Given the description of an element on the screen output the (x, y) to click on. 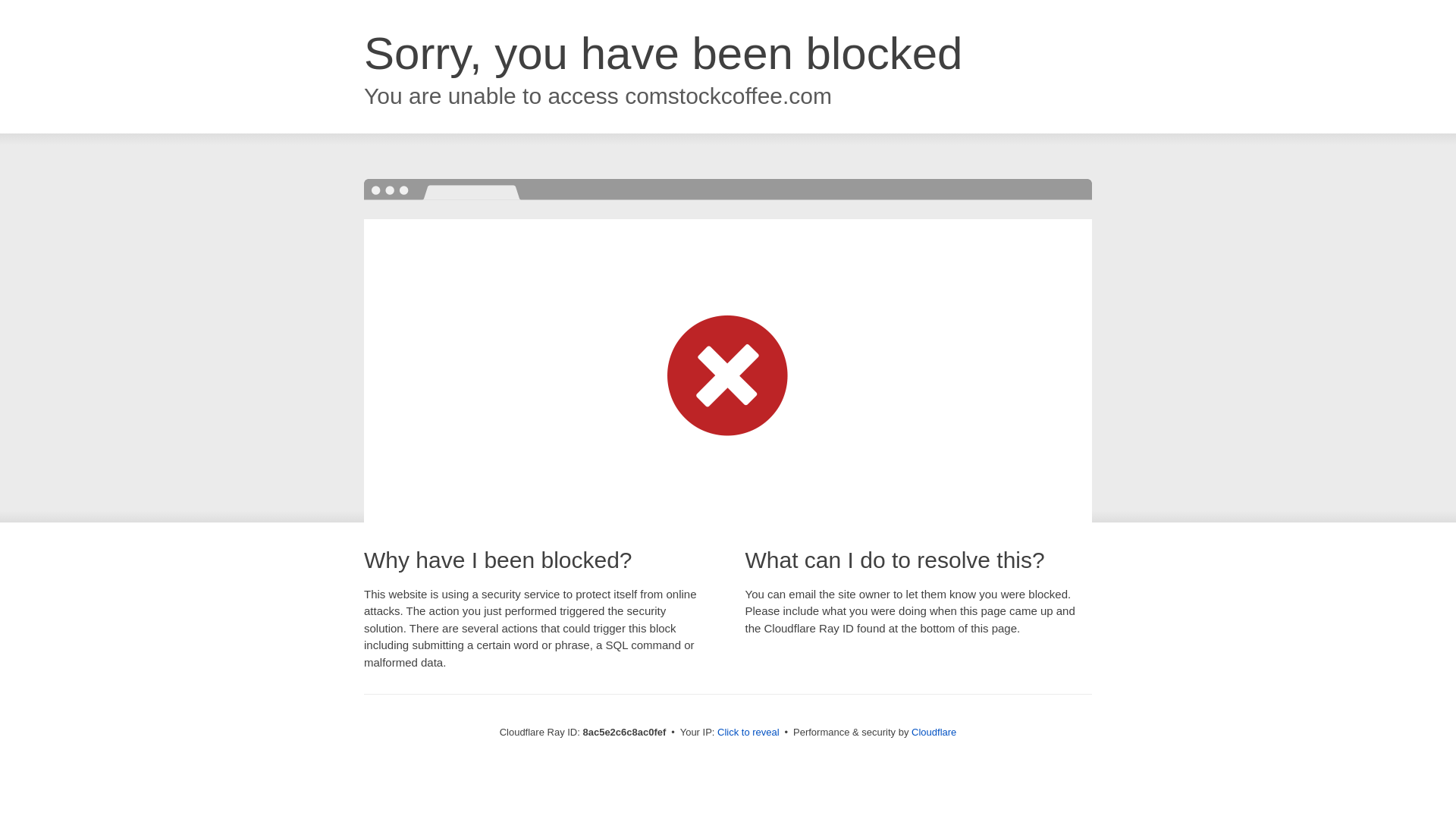
Click to reveal (747, 732)
Cloudflare (933, 731)
